Given the description of an element on the screen output the (x, y) to click on. 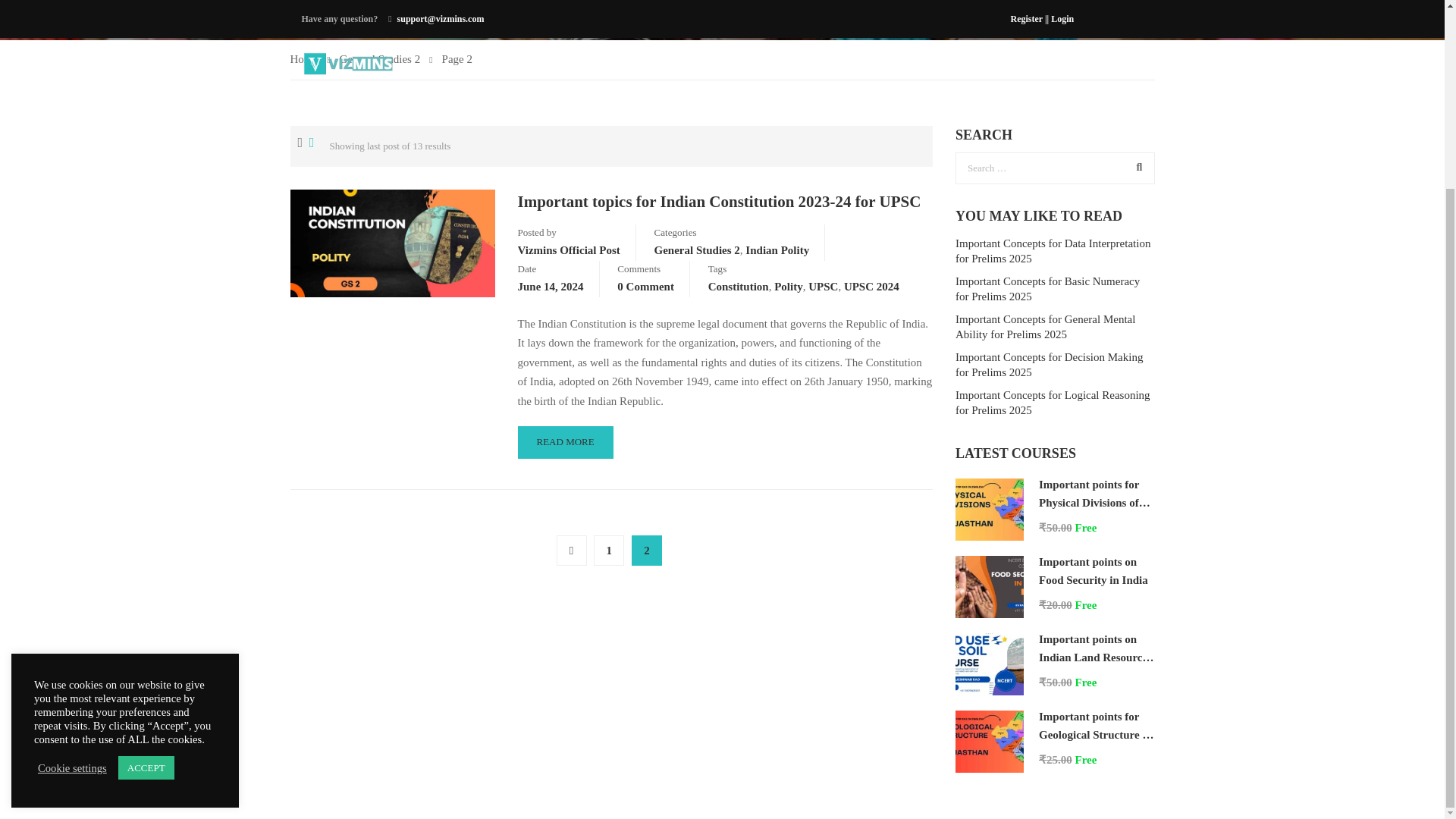
UPSC (823, 287)
0 Comment (645, 287)
General Studies 2 (696, 250)
Vizmins Official Post (568, 250)
Important topics for Indian Constitution 2023-24 for UPSC (724, 202)
General Studies 2 (385, 59)
Constitution (737, 287)
Polity (788, 287)
Home (309, 59)
Indian Polity (777, 250)
UPSC 2024 (871, 287)
Search (1135, 167)
Search (1135, 167)
